Given the description of an element on the screen output the (x, y) to click on. 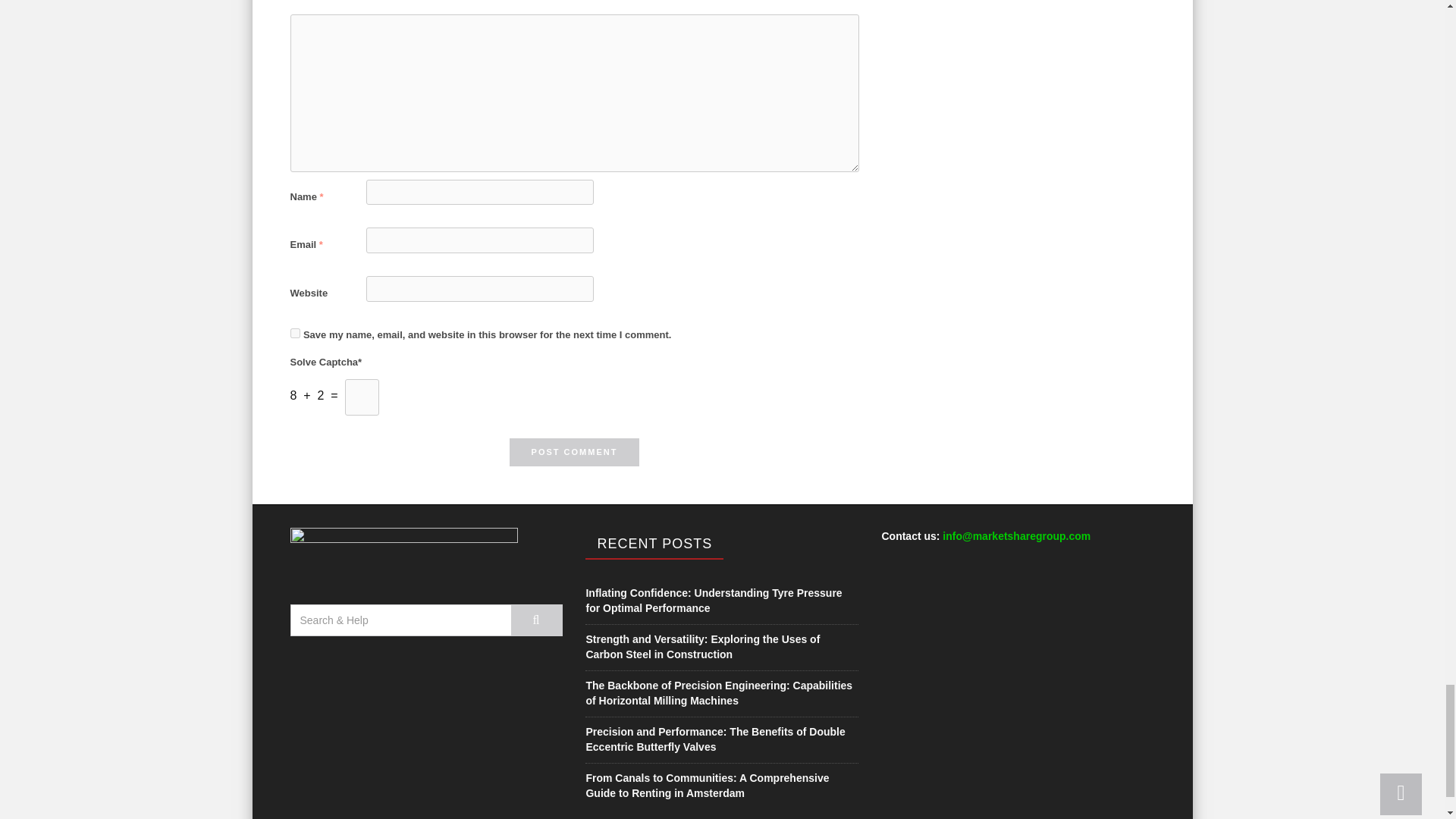
Search for: (400, 620)
yes (294, 333)
Post Comment (574, 452)
Post Comment (574, 452)
